Given the description of an element on the screen output the (x, y) to click on. 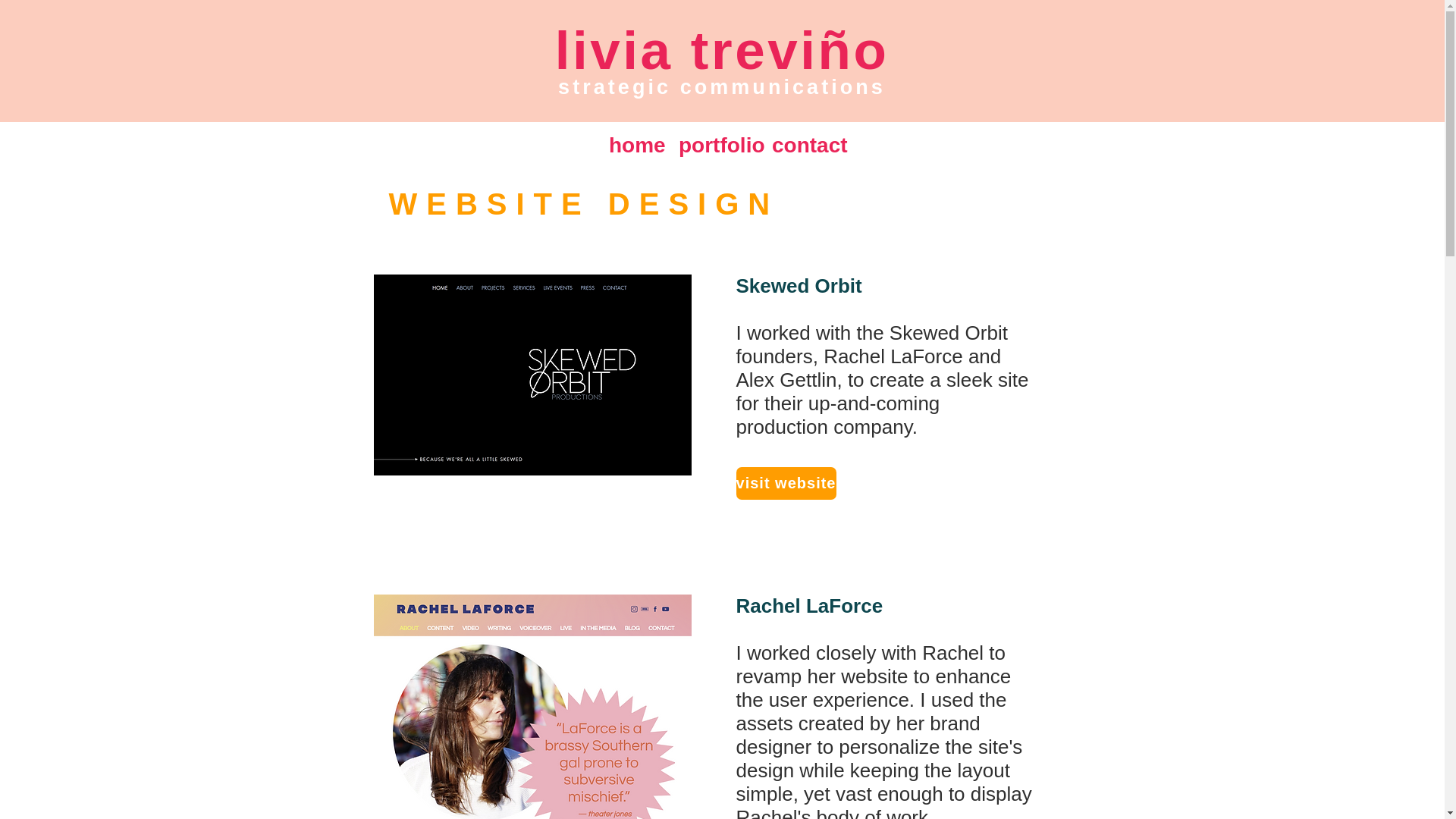
contact (803, 145)
home (631, 145)
visit website (785, 482)
